Given the description of an element on the screen output the (x, y) to click on. 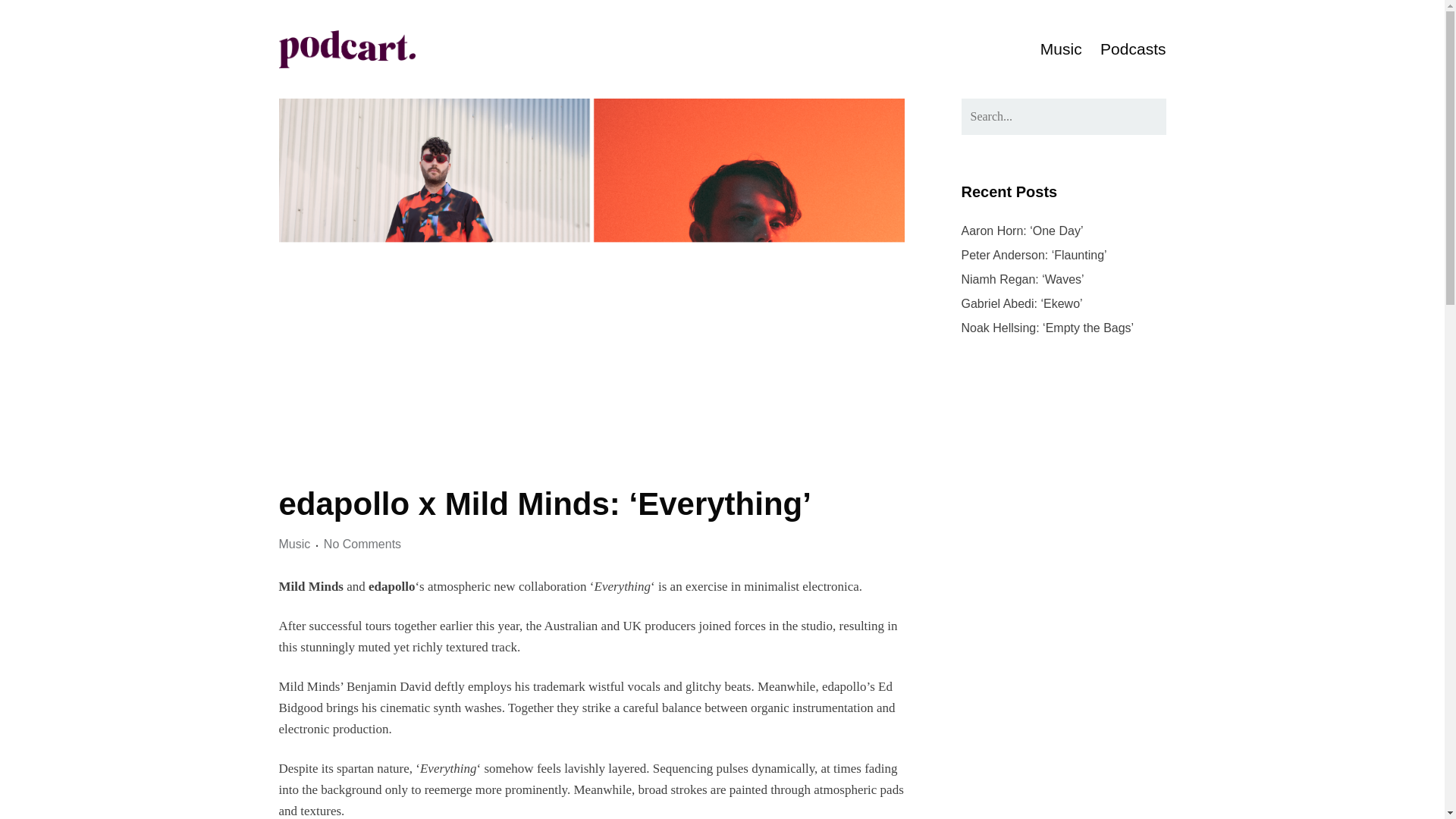
No Comments (362, 544)
Music (295, 544)
Press enter to search (1063, 116)
Podcasts (1133, 48)
Music (1061, 48)
